Given the description of an element on the screen output the (x, y) to click on. 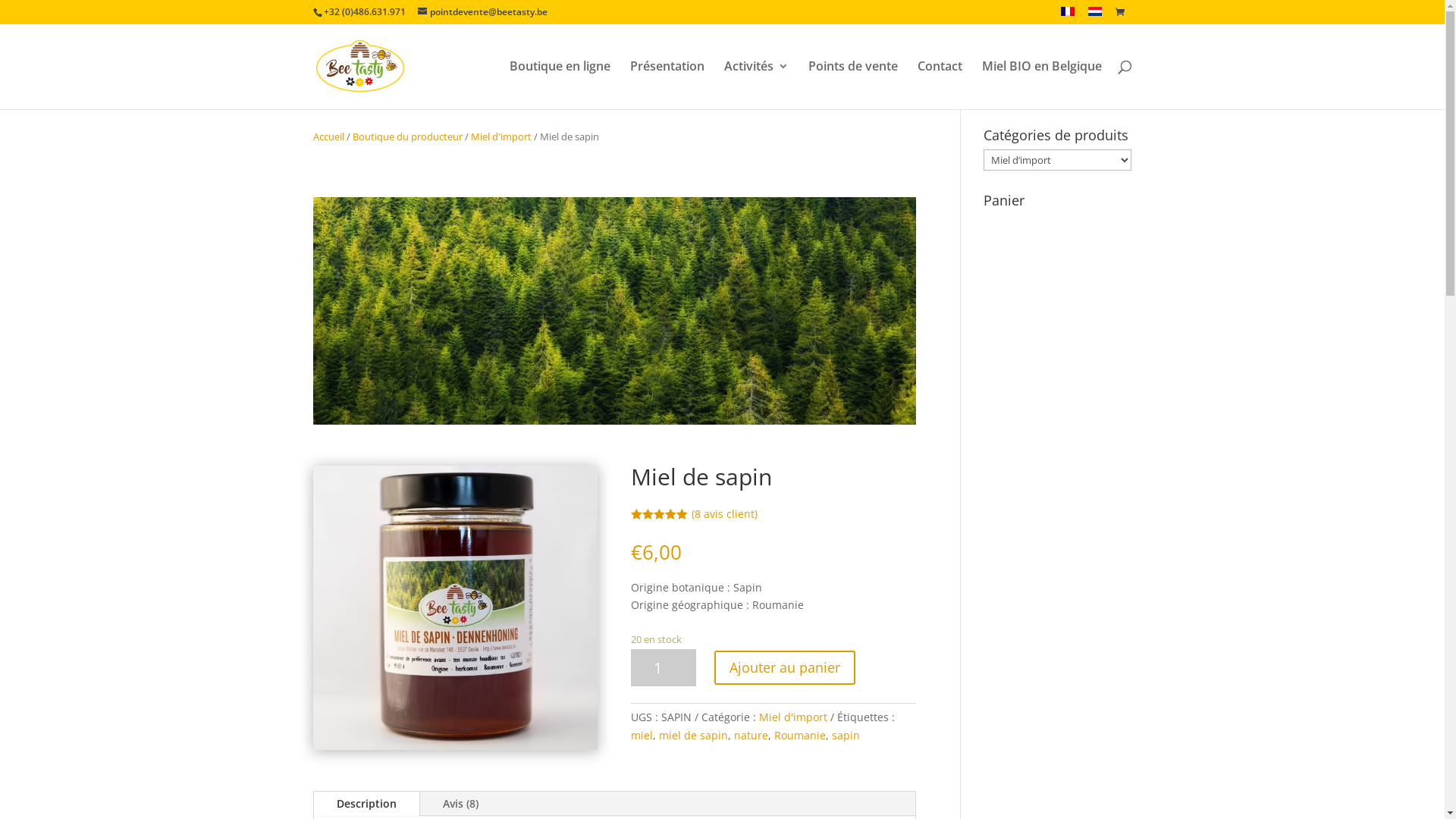
Miel d'import Element type: text (793, 716)
sapin Element type: text (845, 735)
Boutique en ligne Element type: text (559, 84)
(8 avis client) Element type: text (724, 513)
Roumanie Element type: text (799, 735)
Ajouter au panier Element type: text (784, 667)
Accueil Element type: text (327, 136)
pointdevente@beetasty.be Element type: text (481, 11)
Miel BIO en Belgique Element type: text (1041, 84)
Miel d'import Element type: text (500, 136)
miel de sapin Element type: text (693, 735)
miel de sapin Element type: hover (454, 607)
Boutique du producteur Element type: text (406, 136)
Contact Element type: text (939, 84)
miel Element type: text (641, 735)
nature Element type: text (751, 735)
Description Element type: text (366, 803)
Points de vente Element type: text (852, 84)
Avis (8) Element type: text (460, 803)
